Given the description of an element on the screen output the (x, y) to click on. 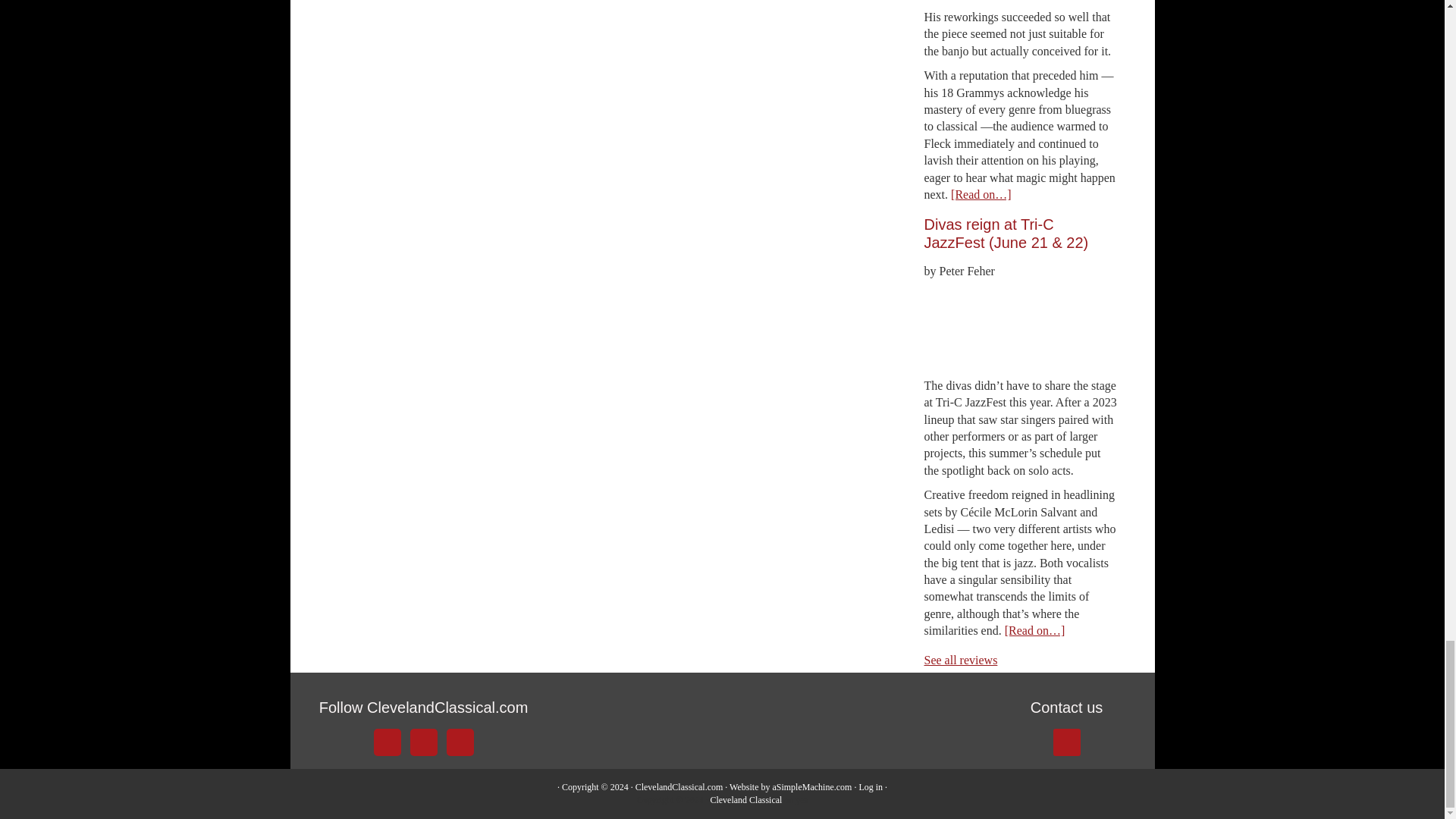
Reviews (960, 659)
